Given the description of an element on the screen output the (x, y) to click on. 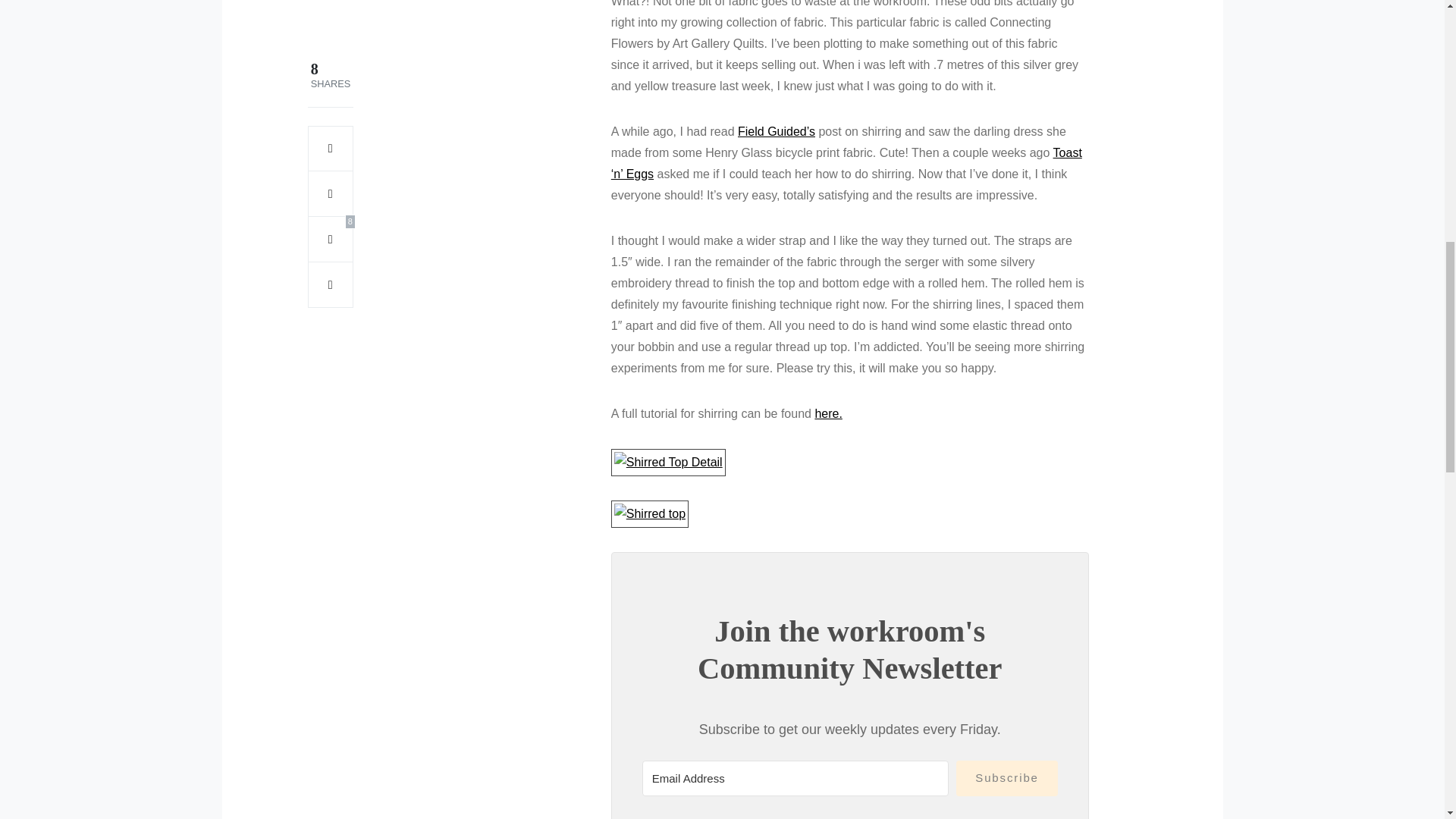
Shirred top by the workroom, on Flickr (649, 512)
Subscribe (1006, 778)
Shirred Top Detail by the workroom, on Flickr (668, 461)
here. (827, 412)
